Given the description of an element on the screen output the (x, y) to click on. 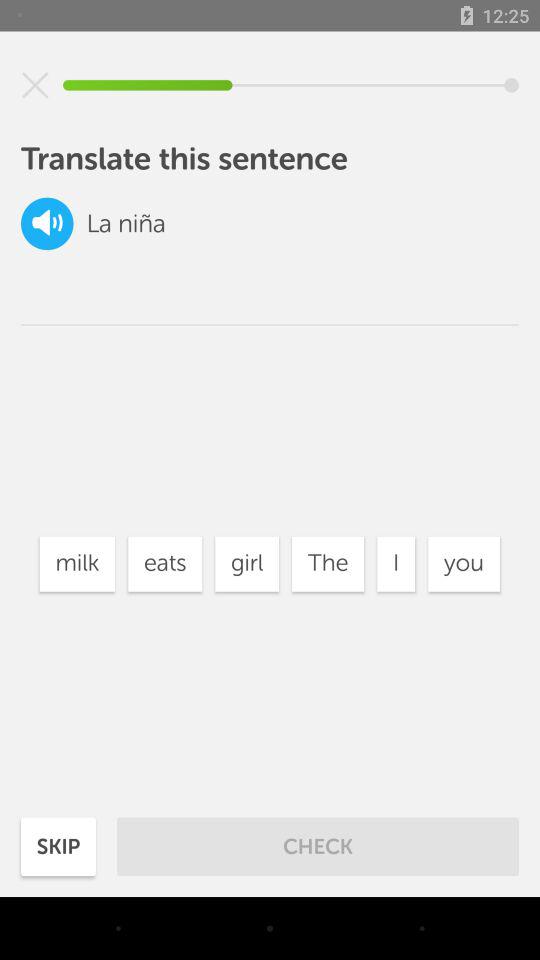
jump to you item (463, 563)
